Given the description of an element on the screen output the (x, y) to click on. 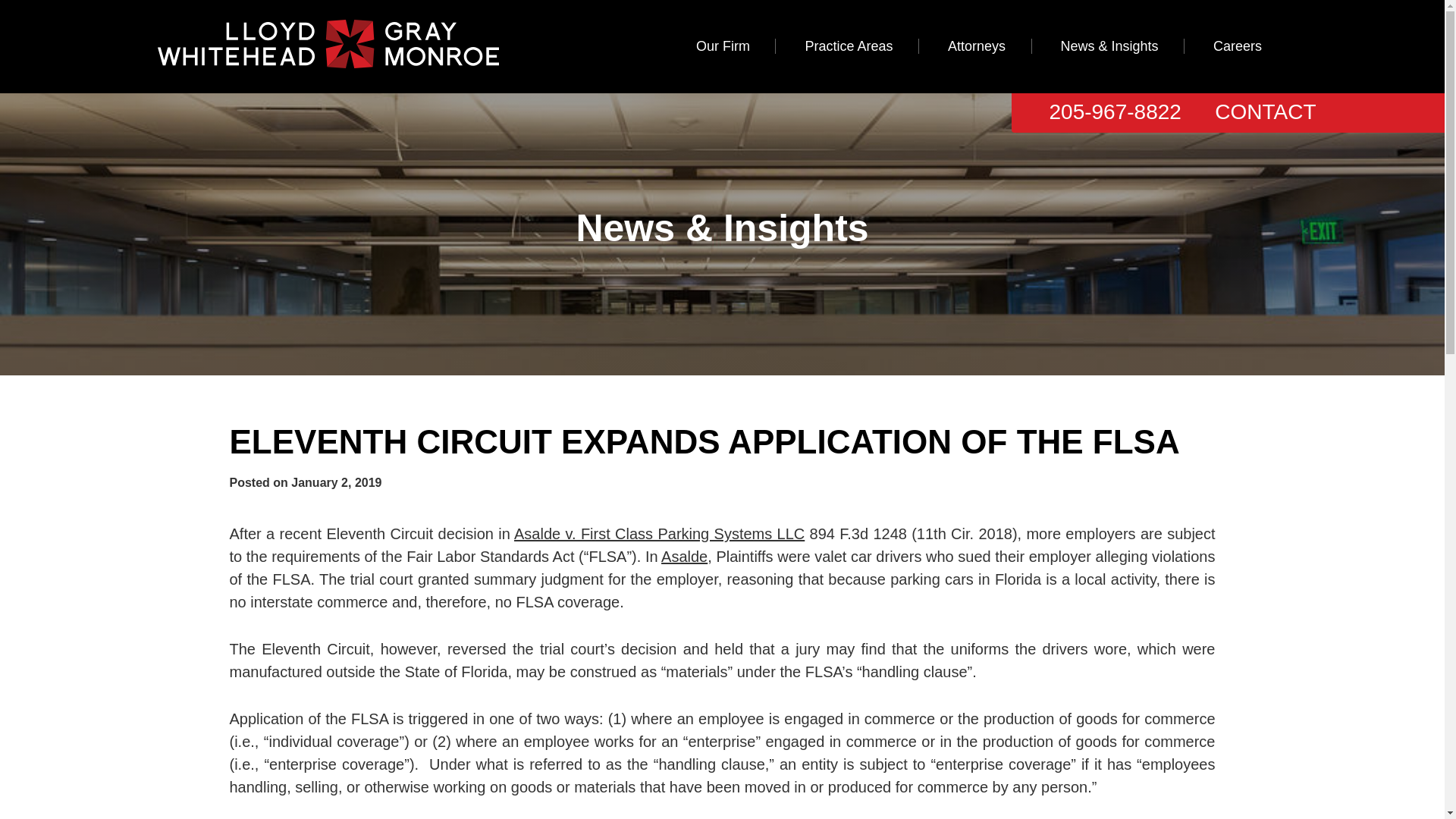
Our Firm (722, 46)
Careers (1237, 46)
Practice Areas (848, 46)
CONTACT (1264, 111)
205-967-8822 (1114, 111)
Attorneys (975, 46)
